Given the description of an element on the screen output the (x, y) to click on. 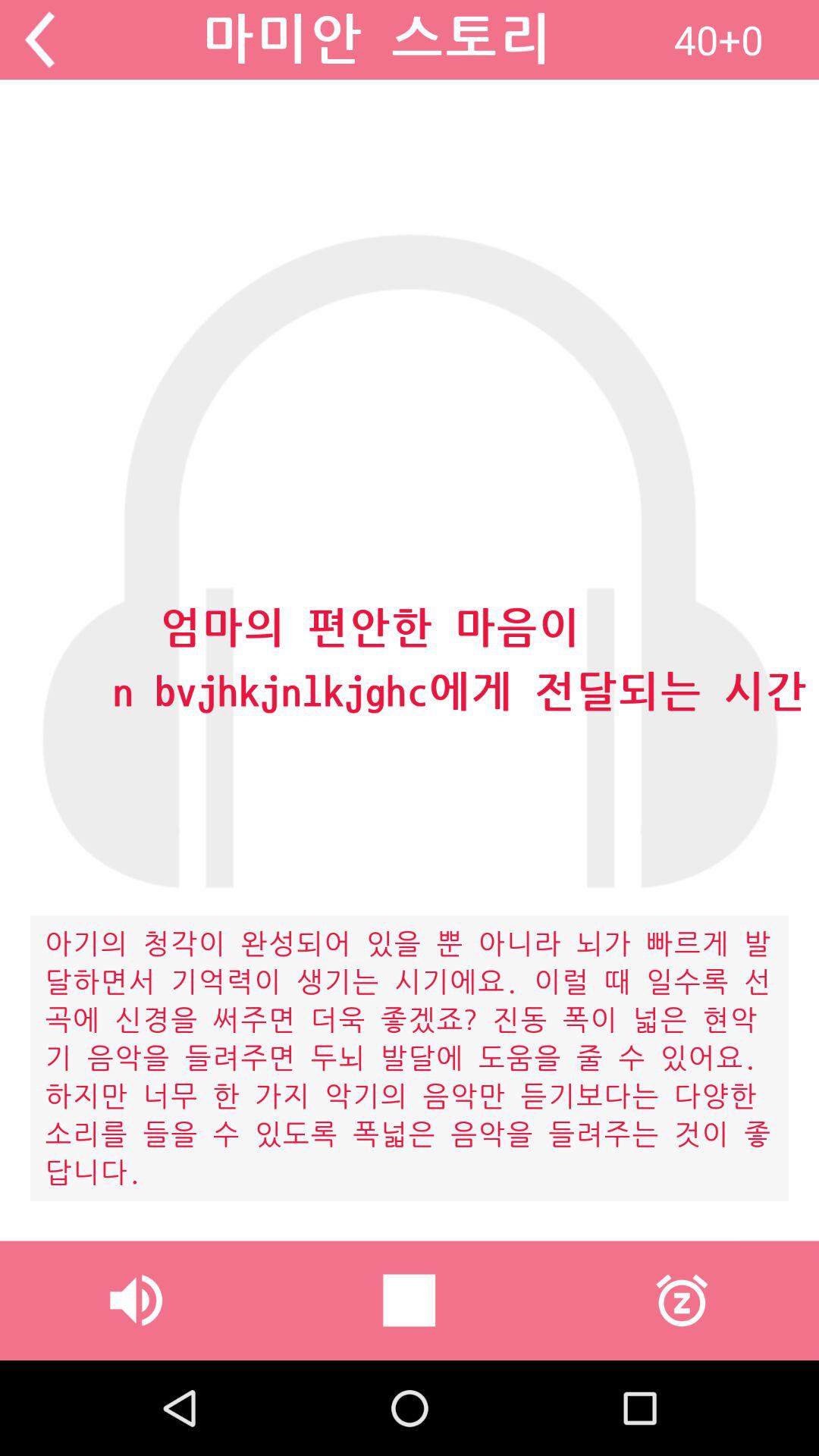
choose item at the bottom right corner (682, 1300)
